Given the description of an element on the screen output the (x, y) to click on. 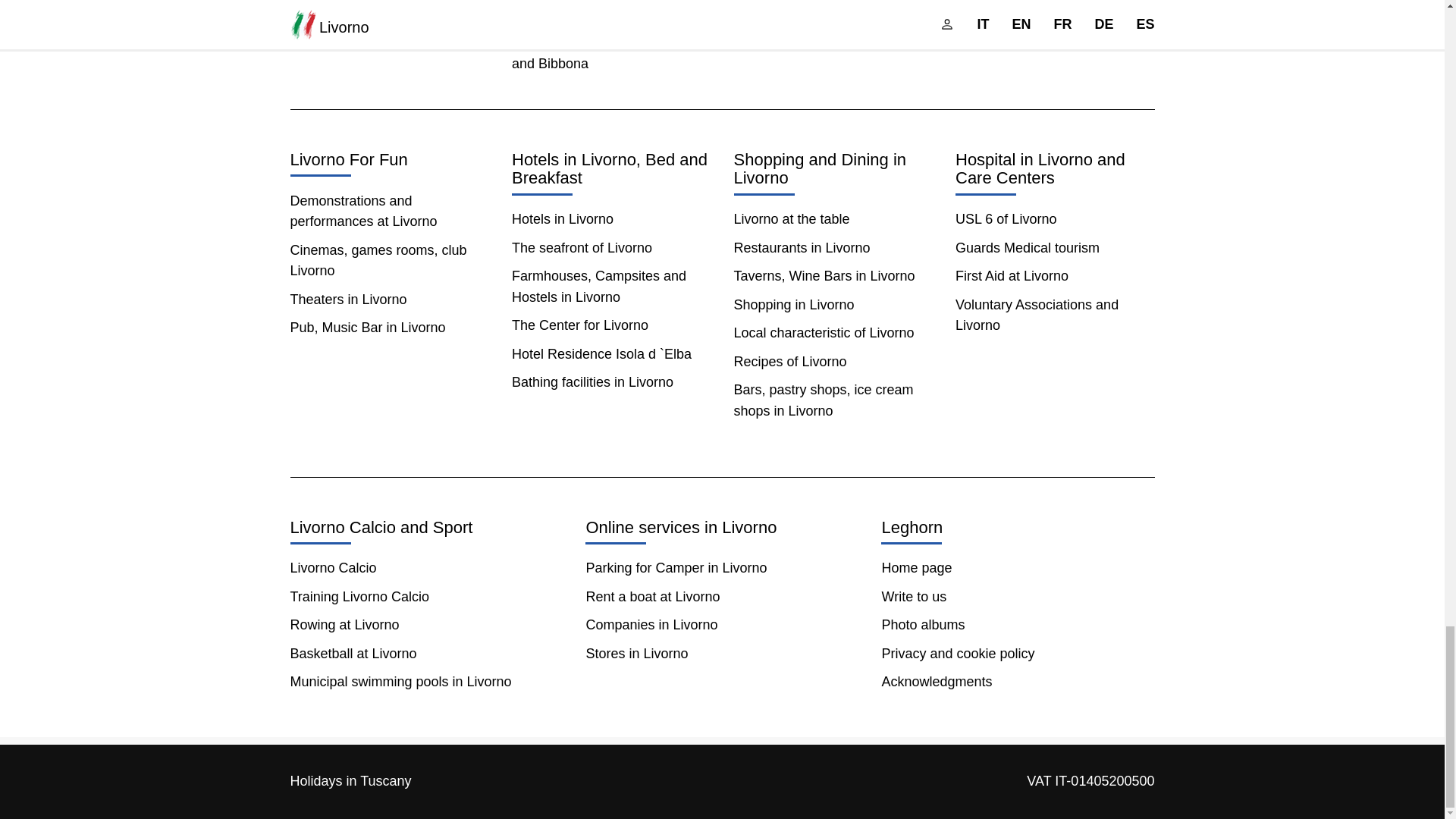
Cultural institutions in Livorno (378, 23)
The Venice District in Livorno (600, 14)
Museums and Villas in Livorno (381, 2)
